Given the description of an element on the screen output the (x, y) to click on. 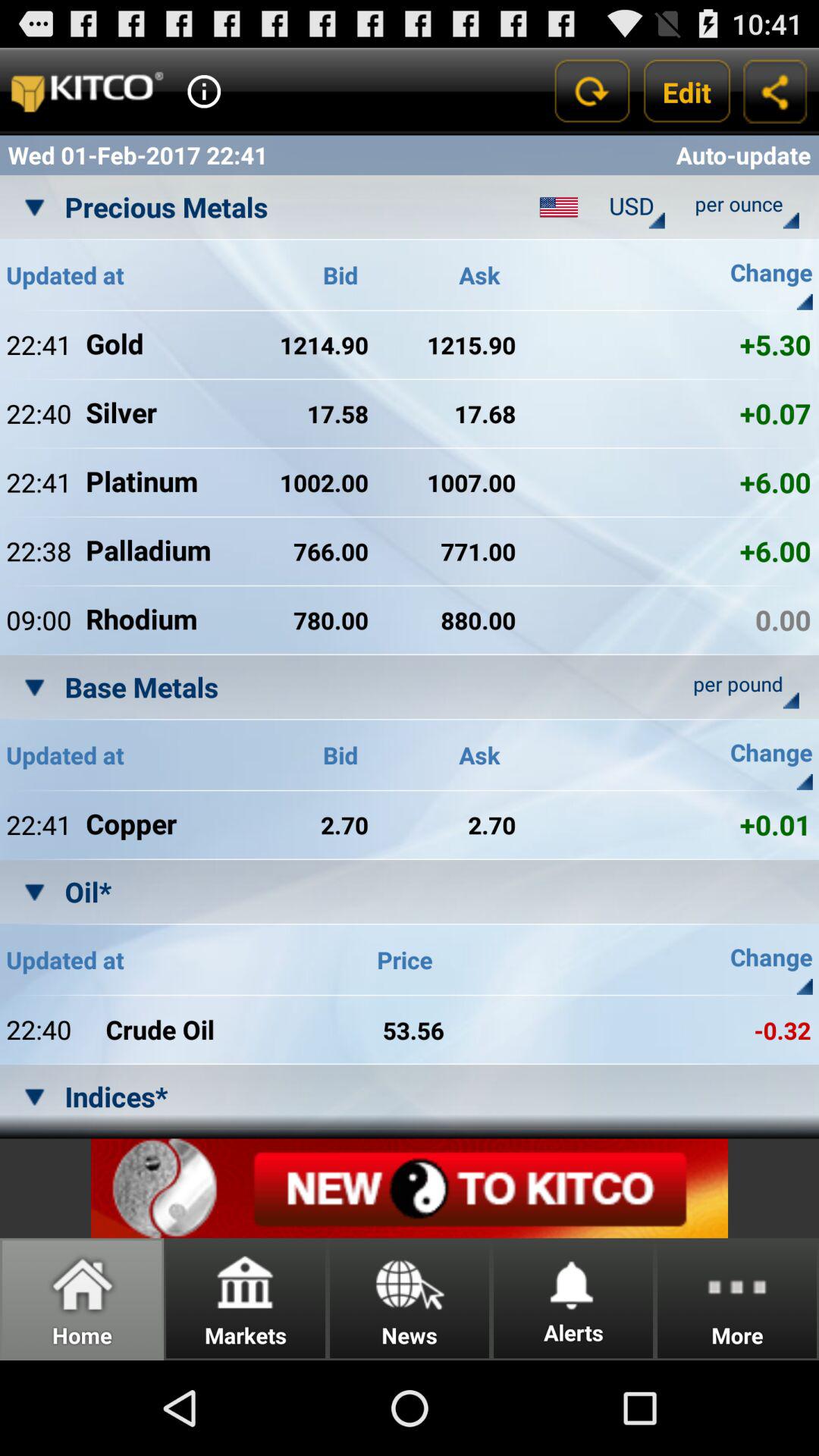
provides additional information (204, 91)
